Given the description of an element on the screen output the (x, y) to click on. 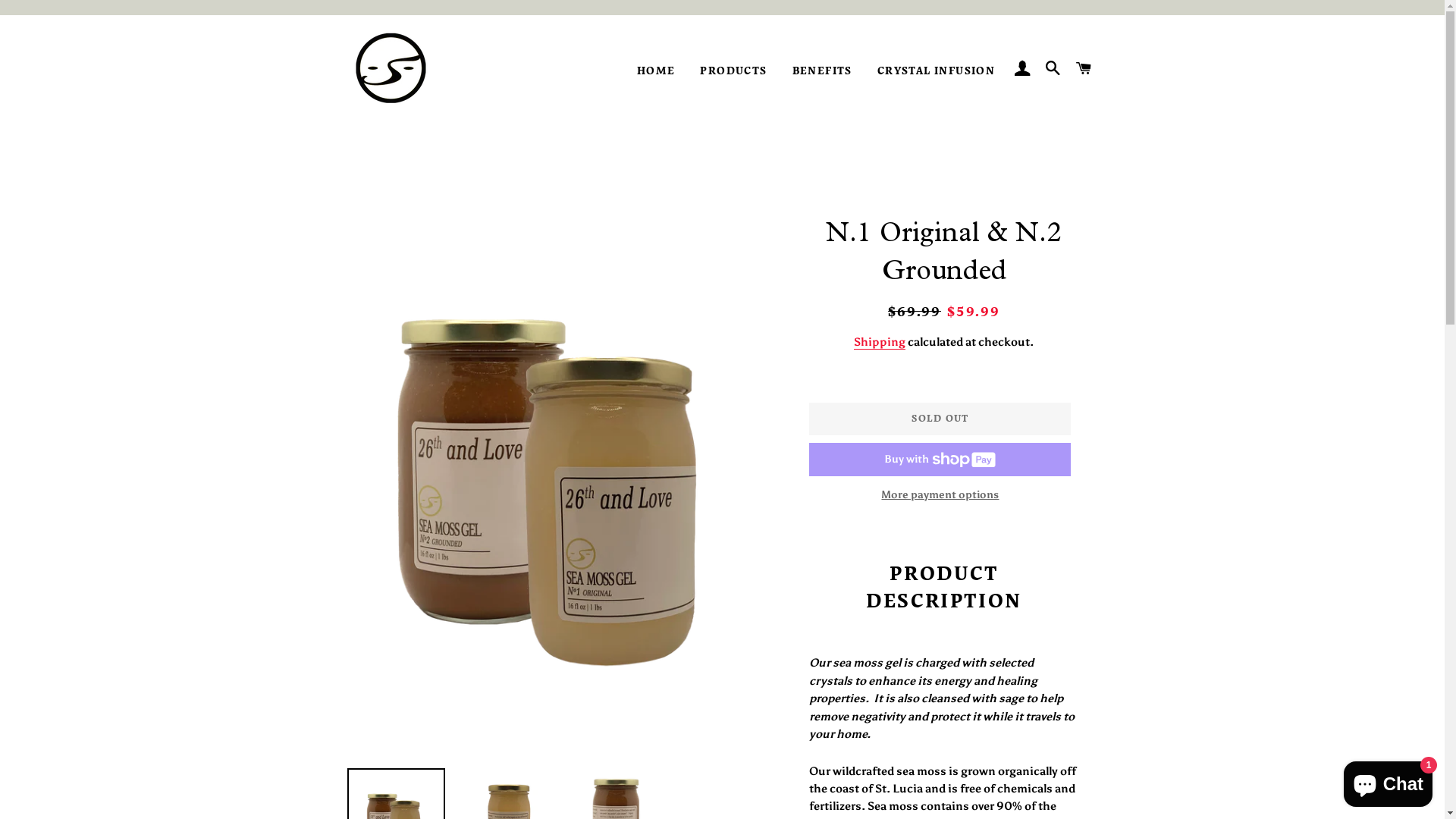
Shipping Element type: text (879, 342)
HOME Element type: text (656, 71)
CRYSTAL INFUSION Element type: text (936, 71)
BENEFITS Element type: text (822, 71)
LOG IN Element type: text (1022, 69)
More payment options Element type: text (939, 494)
Shopify online store chat Element type: hover (1388, 780)
CART Element type: text (1083, 69)
SEARCH Element type: text (1053, 69)
PRODUCTS Element type: text (733, 71)
SOLD OUT Element type: text (939, 418)
